Given the description of an element on the screen output the (x, y) to click on. 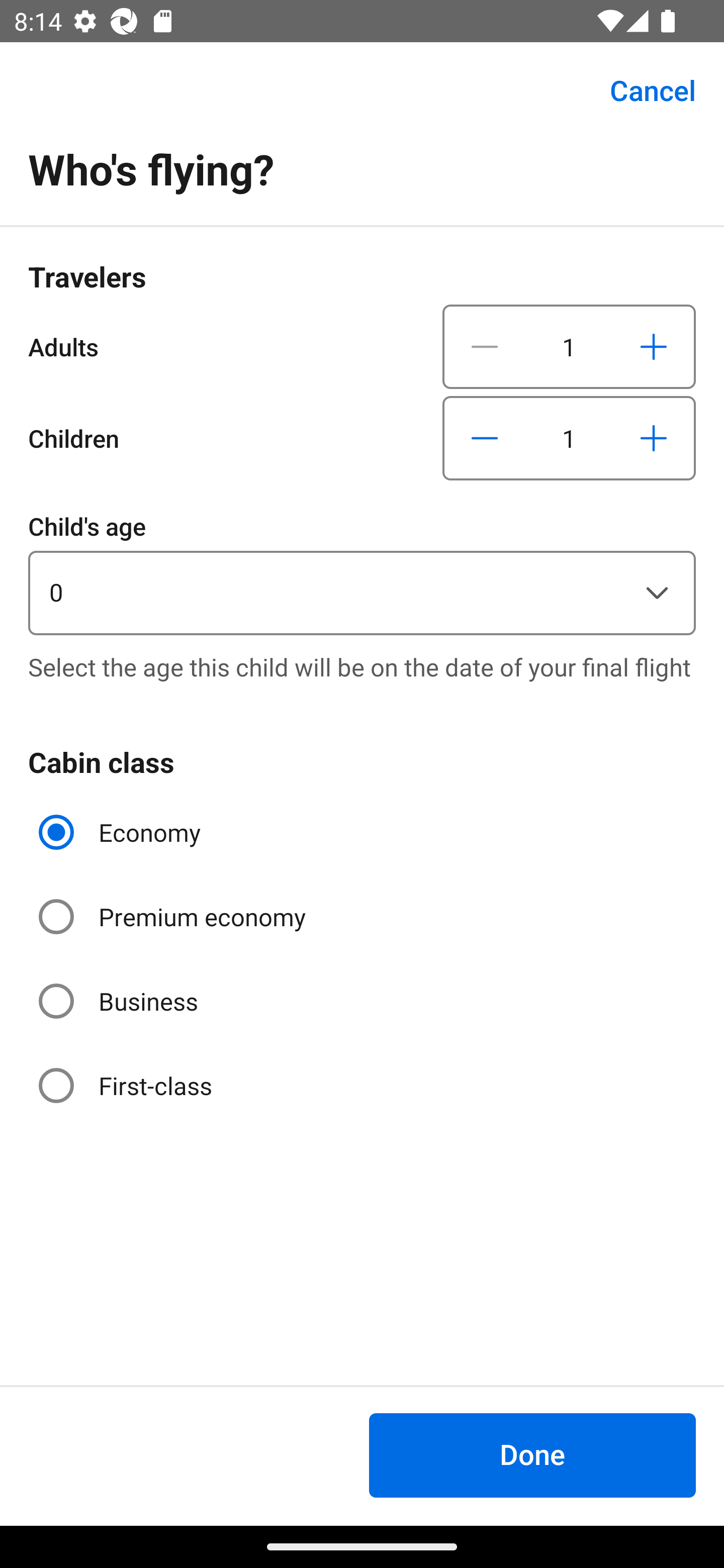
Cancel (641, 90)
Decrease (484, 346)
Increase (653, 346)
Decrease (484, 437)
Increase (653, 437)
Child's age
 Child's age 0 (361, 571)
Economy (121, 832)
Premium economy (174, 916)
Business (120, 1000)
First-class (126, 1084)
Done (532, 1454)
